Given the description of an element on the screen output the (x, y) to click on. 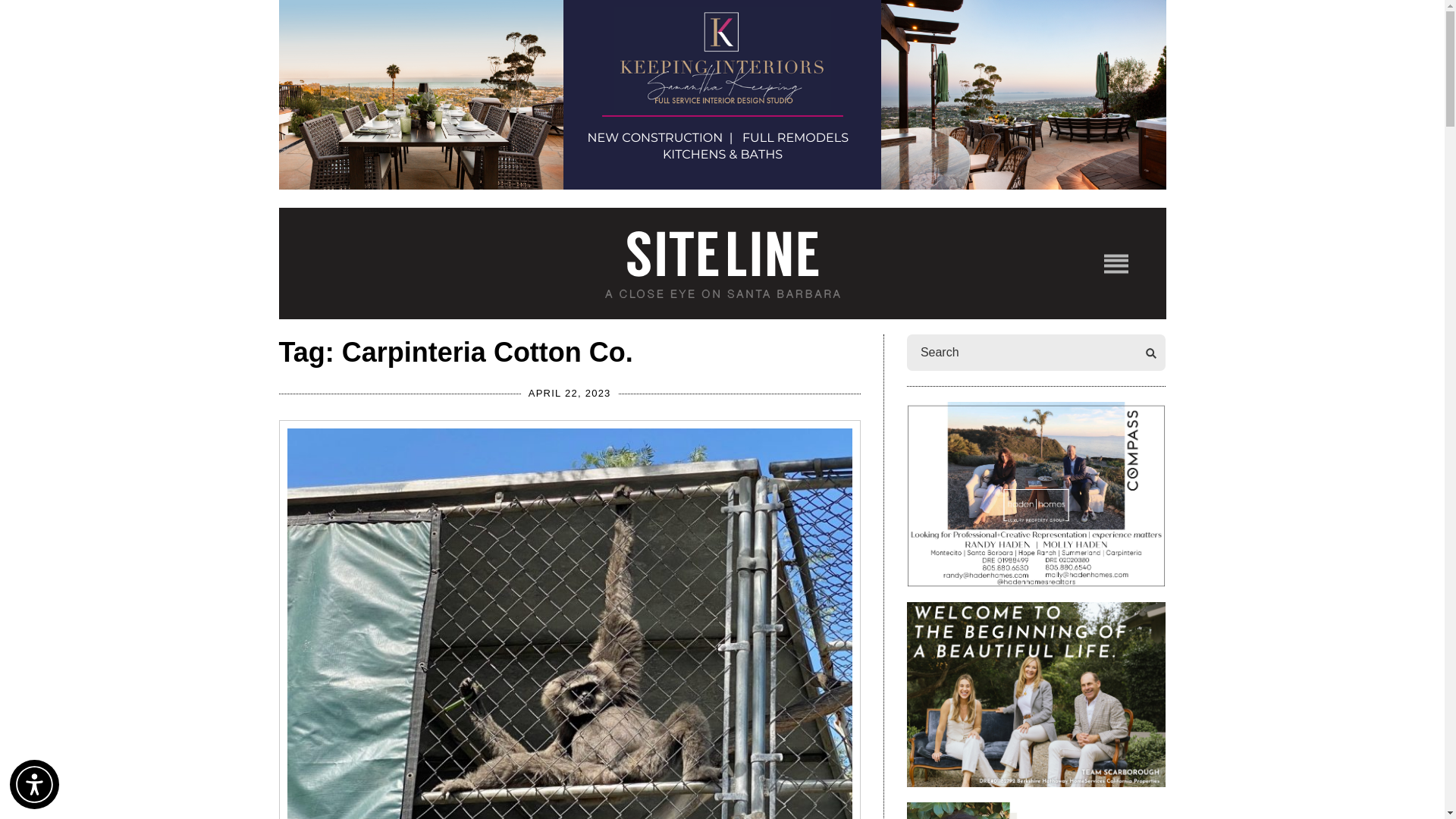
Haden Homes (1036, 494)
Sheela Hunt (1036, 810)
menu (1115, 262)
Team Scarborough (1036, 694)
